Given the description of an element on the screen output the (x, y) to click on. 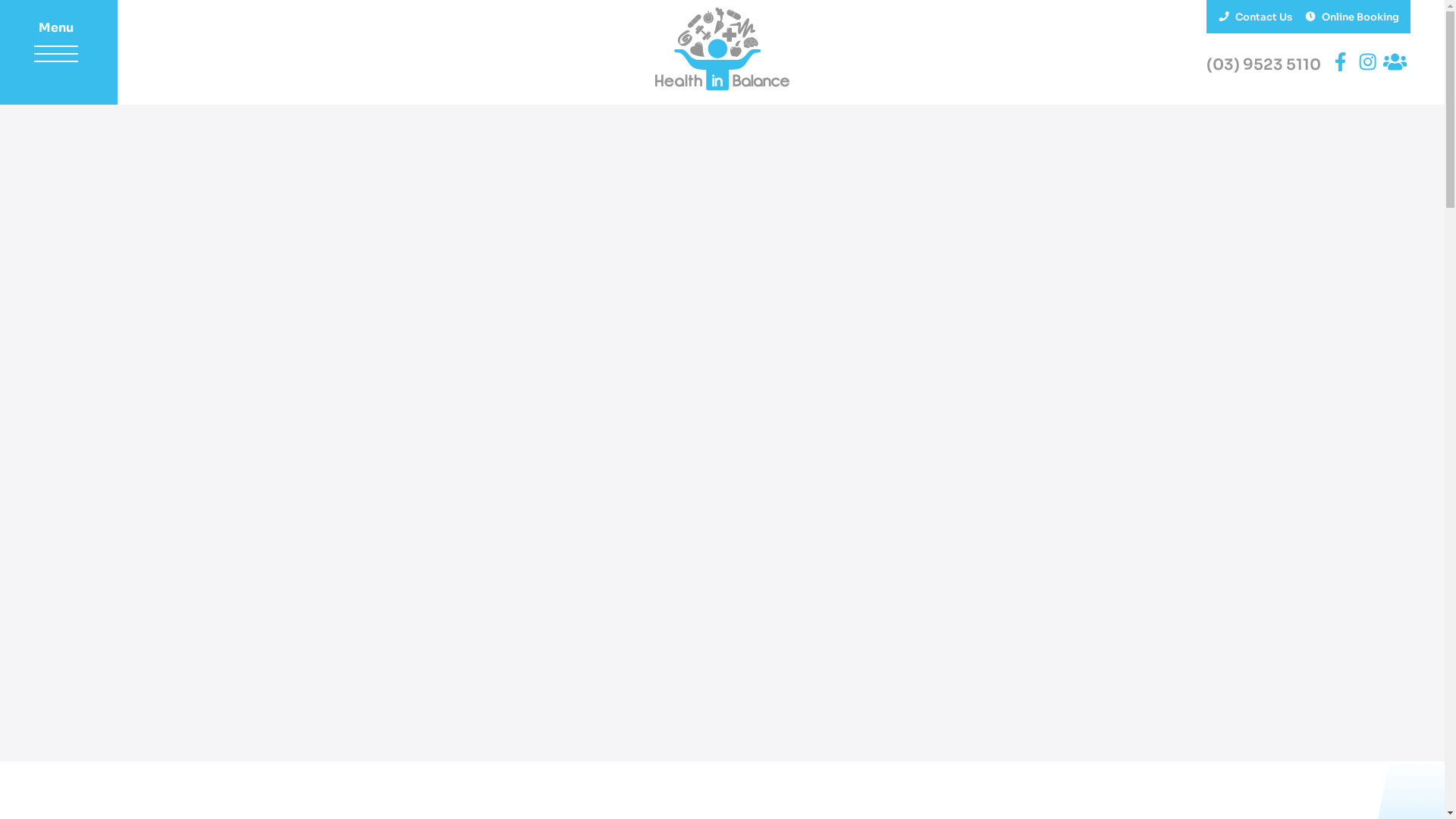
Contact Us Element type: text (1254, 16)
Online Booking Element type: text (1351, 16)
(03) 9523 5110 Element type: text (1265, 65)
